Given the description of an element on the screen output the (x, y) to click on. 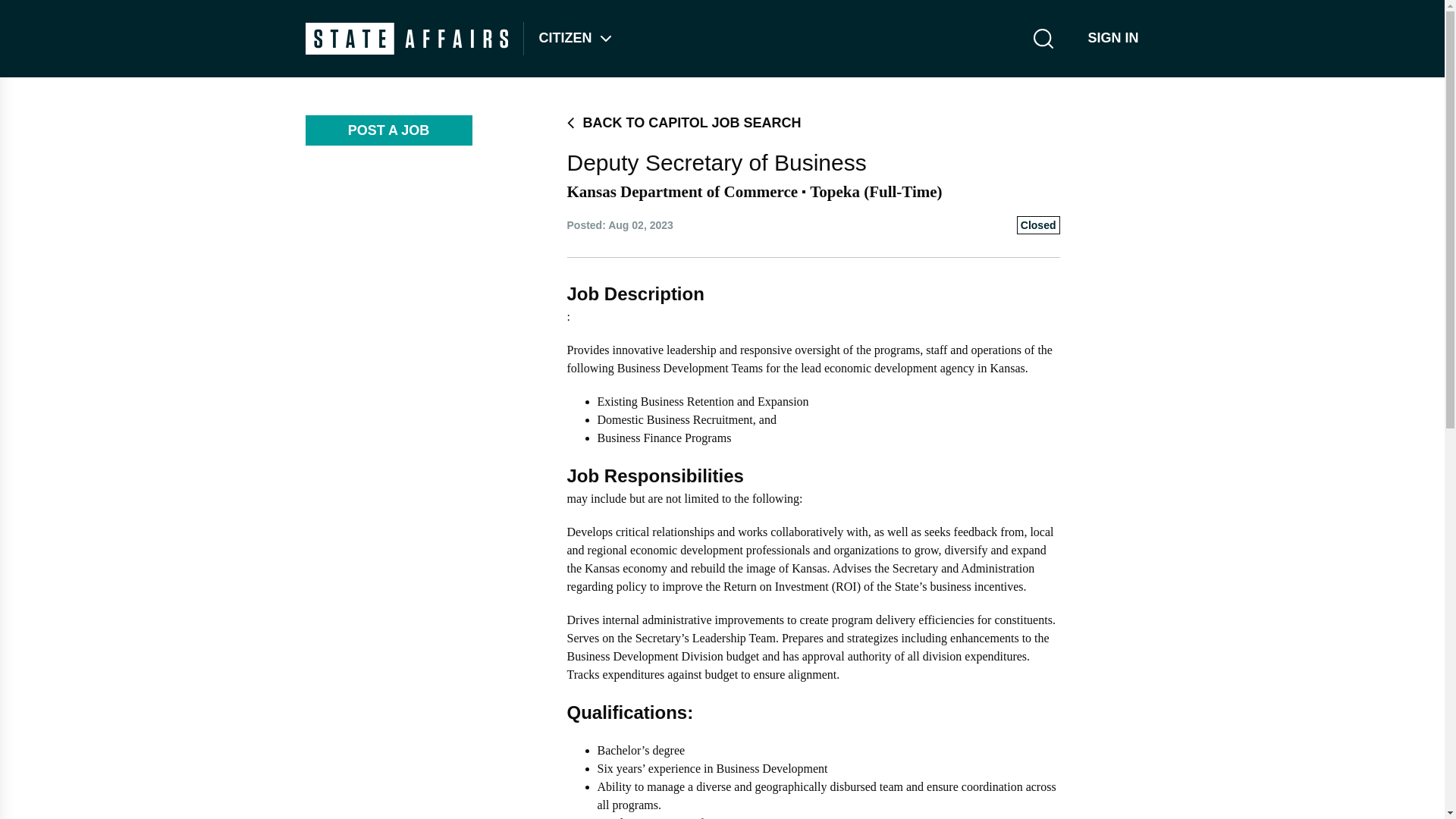
SIGN IN (1105, 38)
CITIZEN (564, 38)
POST A JOB (387, 130)
BACK TO CAPITOL JOB SEARCH (813, 123)
